Given the description of an element on the screen output the (x, y) to click on. 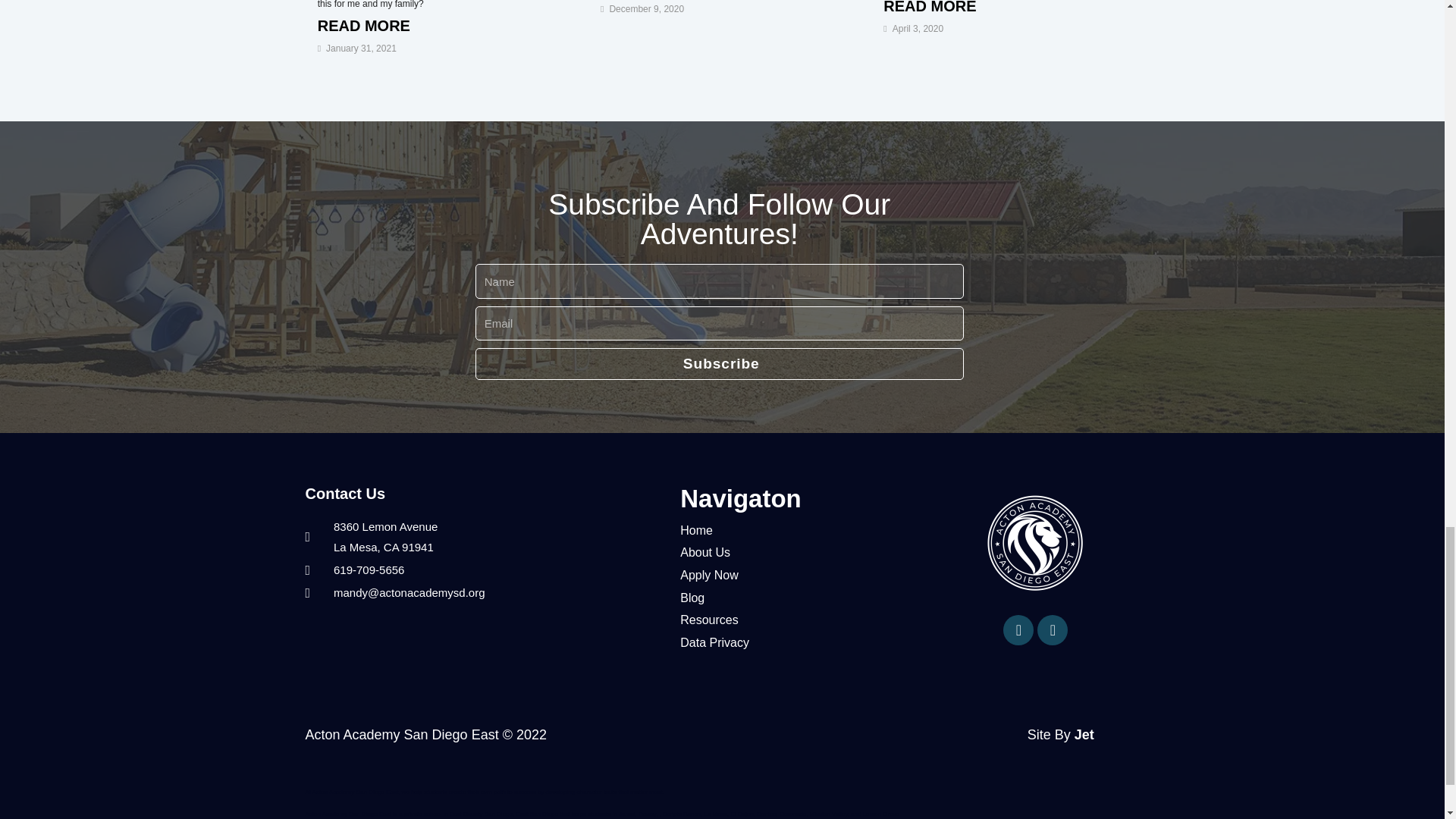
Jet (1084, 734)
READ MORE (438, 26)
Home (799, 530)
Blog (799, 598)
Data Privacy (799, 642)
619-709-5656 (484, 569)
About Us (799, 552)
Resources (799, 620)
READ MORE (1004, 10)
Apply Now (799, 575)
Subscribe (718, 363)
